Given the description of an element on the screen output the (x, y) to click on. 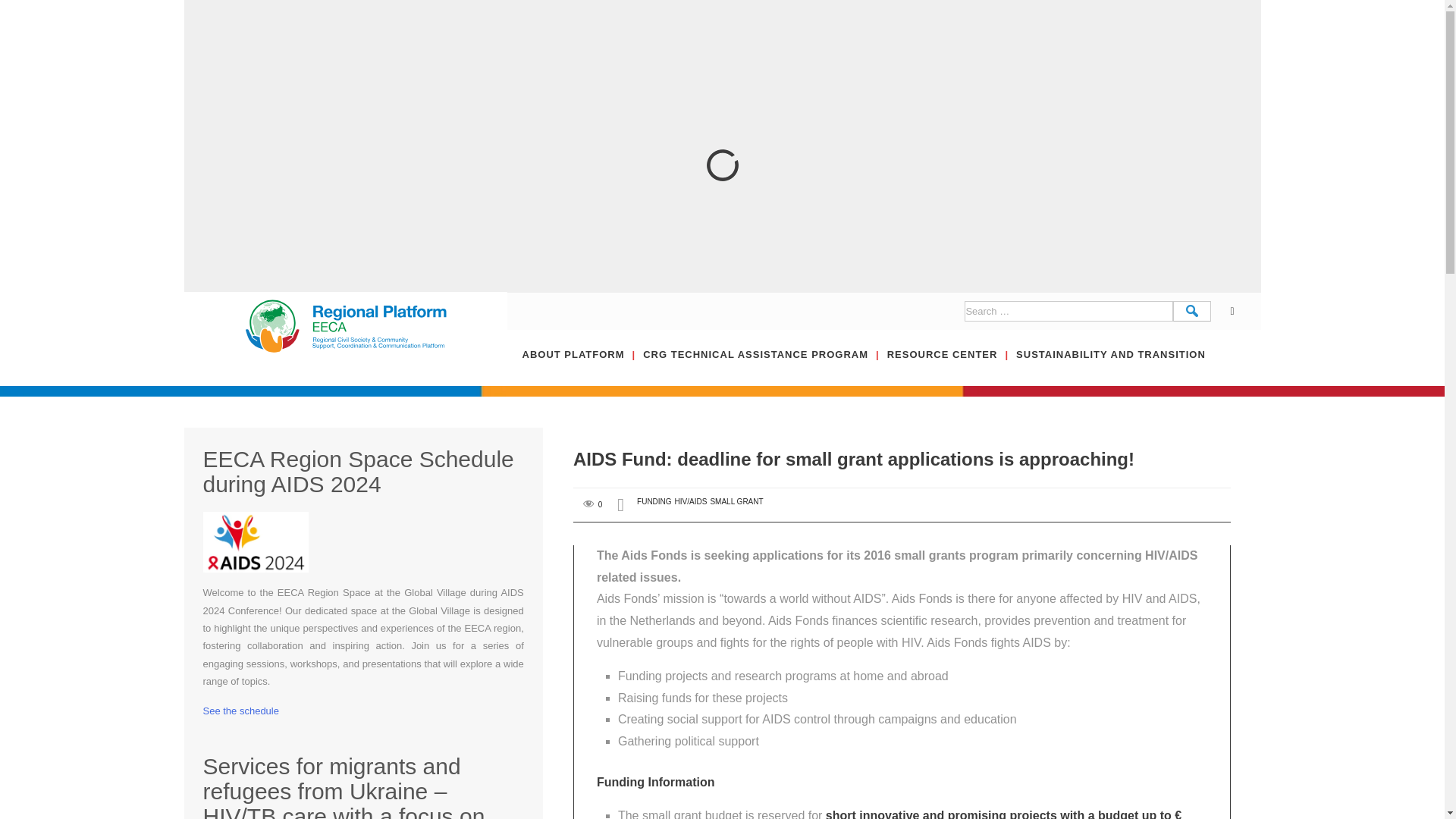
ABOUT PLATFORM (582, 366)
Search for: (1068, 311)
See the schedule (241, 710)
FUNDING (654, 501)
SMALL GRANT (736, 501)
CRG TECHNICAL ASSISTANCE PROGRAM (764, 366)
SUSTAINABILITY AND TRANSITION (1110, 366)
RESOURCE CENTER (951, 366)
